Given the description of an element on the screen output the (x, y) to click on. 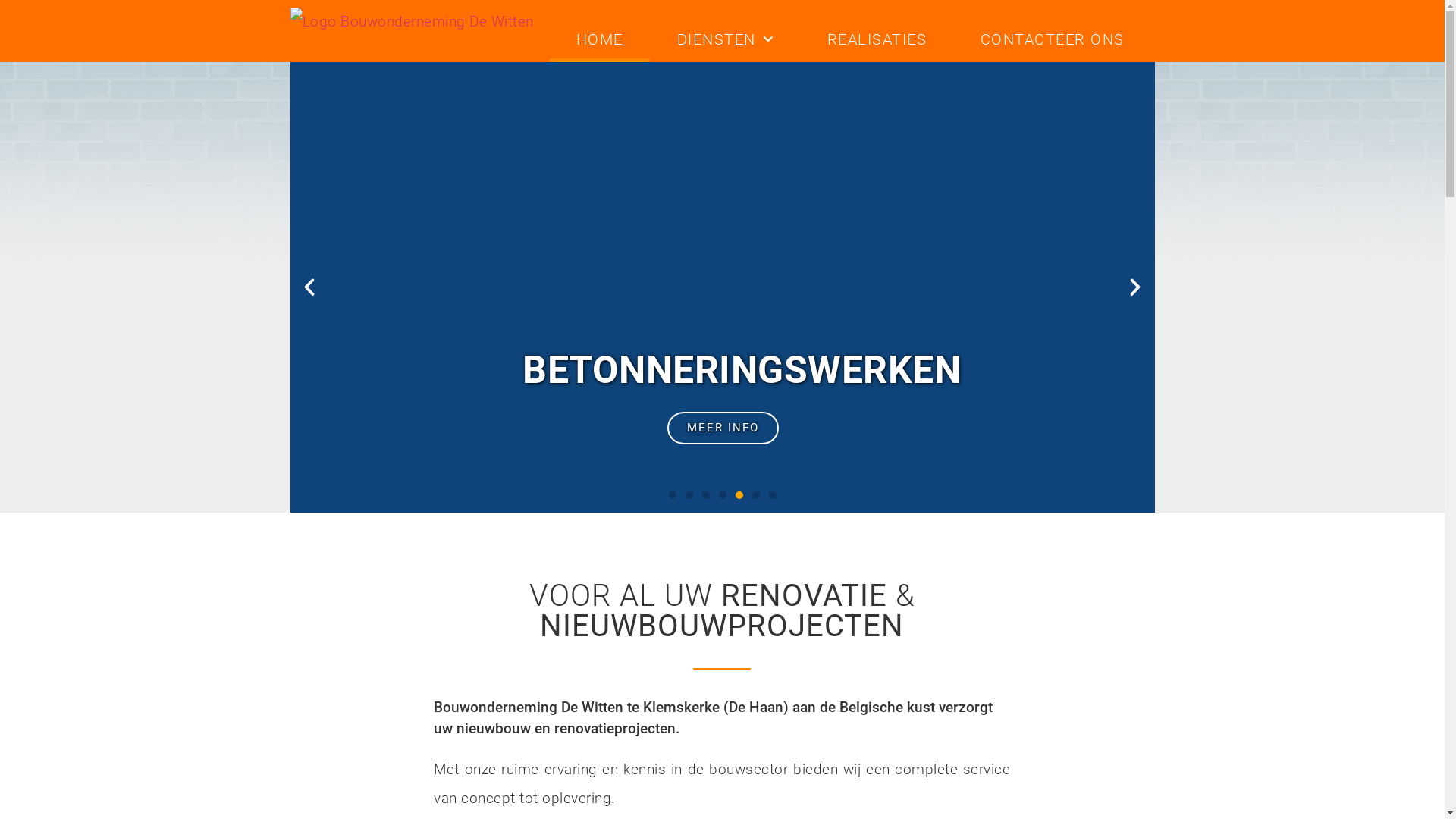
CONTACTEER ONS Element type: text (1052, 39)
HOME Element type: text (599, 39)
DIENSTEN Element type: text (724, 39)
REALISATIES Element type: text (876, 39)
MEER INFO Element type: text (722, 427)
